Given the description of an element on the screen output the (x, y) to click on. 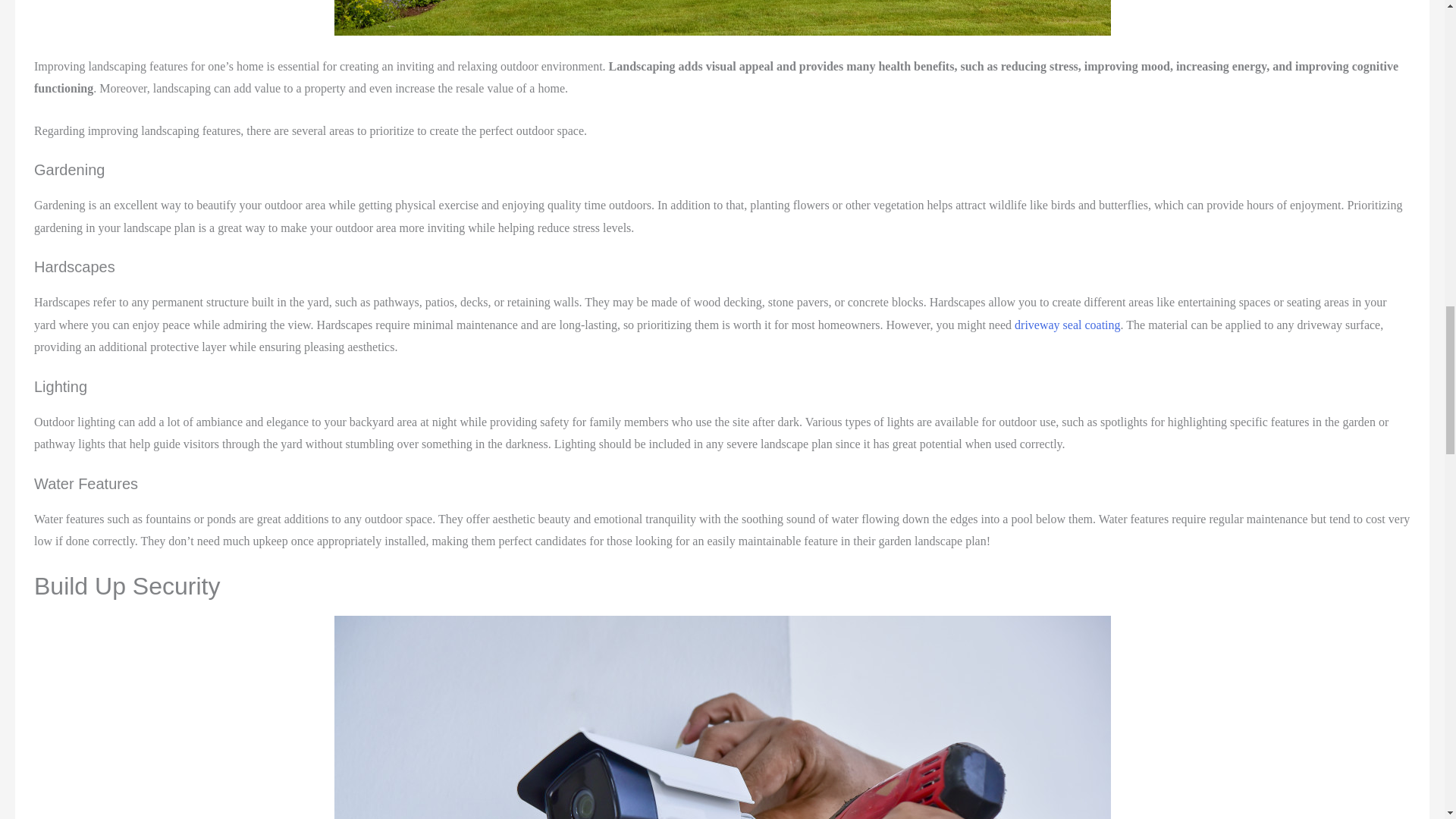
Landscaping features (721, 18)
driveway seal coating (1067, 324)
